Given the description of an element on the screen output the (x, y) to click on. 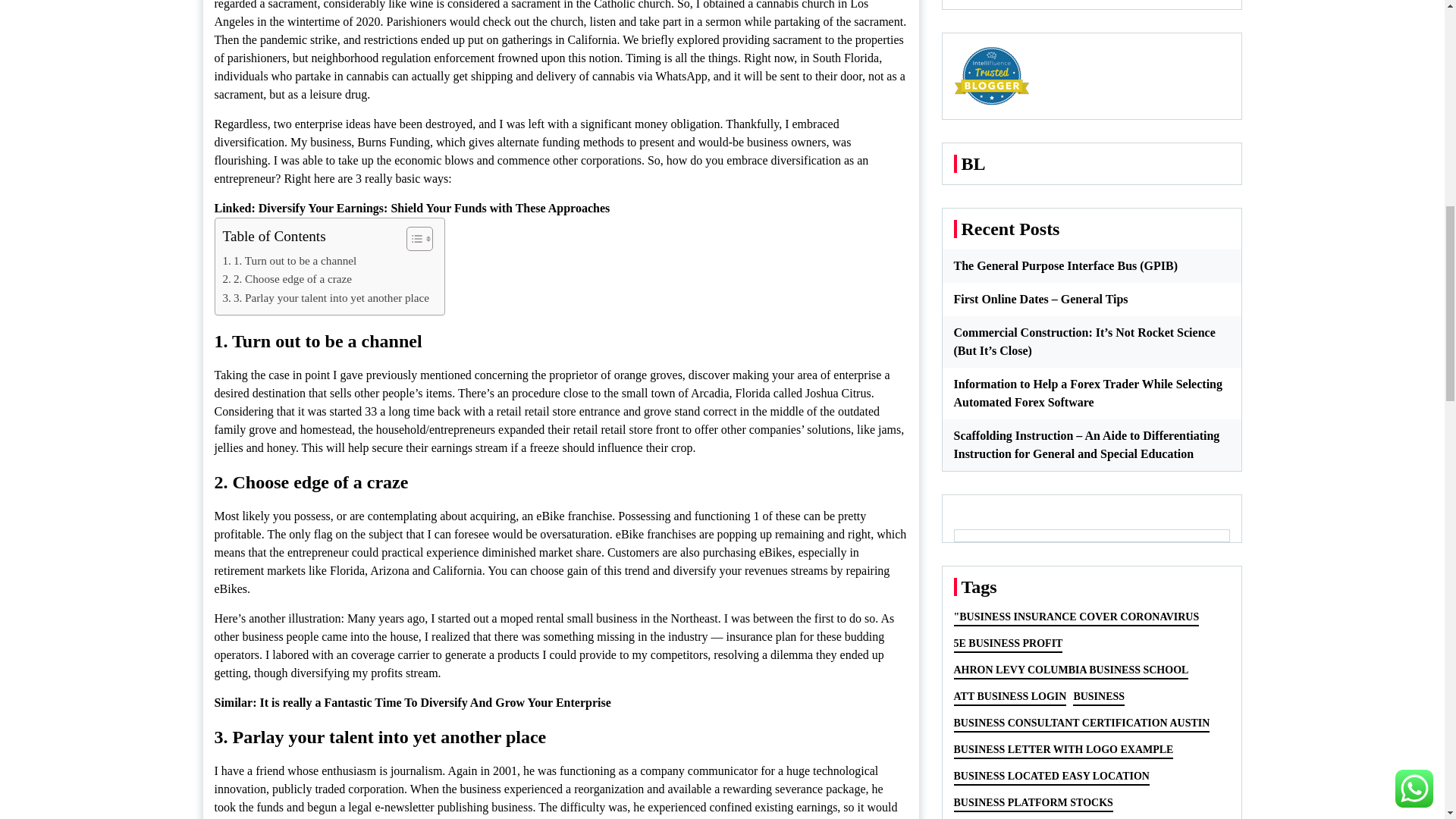
3. Parlay your talent into yet another place (325, 298)
2. Choose edge of a craze (287, 279)
1. Turn out to be a channel (289, 260)
